Given the description of an element on the screen output the (x, y) to click on. 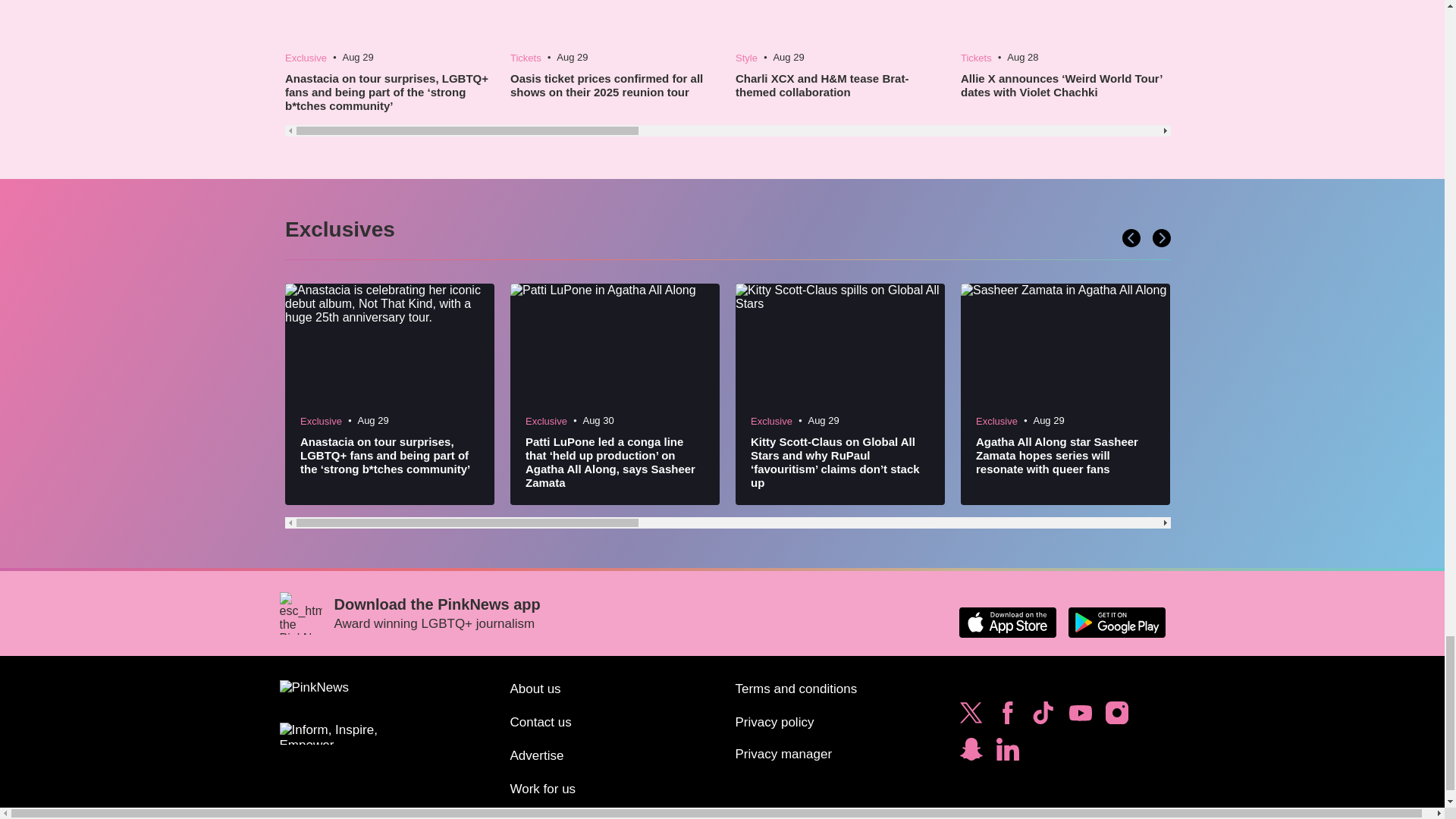
Follow PinkNews on Twitter (970, 716)
Subscribe to PinkNews on Snapchat (970, 752)
Follow PinkNews on Instagram (1116, 716)
Download the PinkNews app on Google Play (1115, 622)
Download the PinkNews app on the Apple App Store (1006, 622)
Follow PinkNews on LinkedIn (1007, 752)
Subscribe to PinkNews on YouTube (1079, 716)
Follow PinkNews on TikTok (1042, 716)
